Given the description of an element on the screen output the (x, y) to click on. 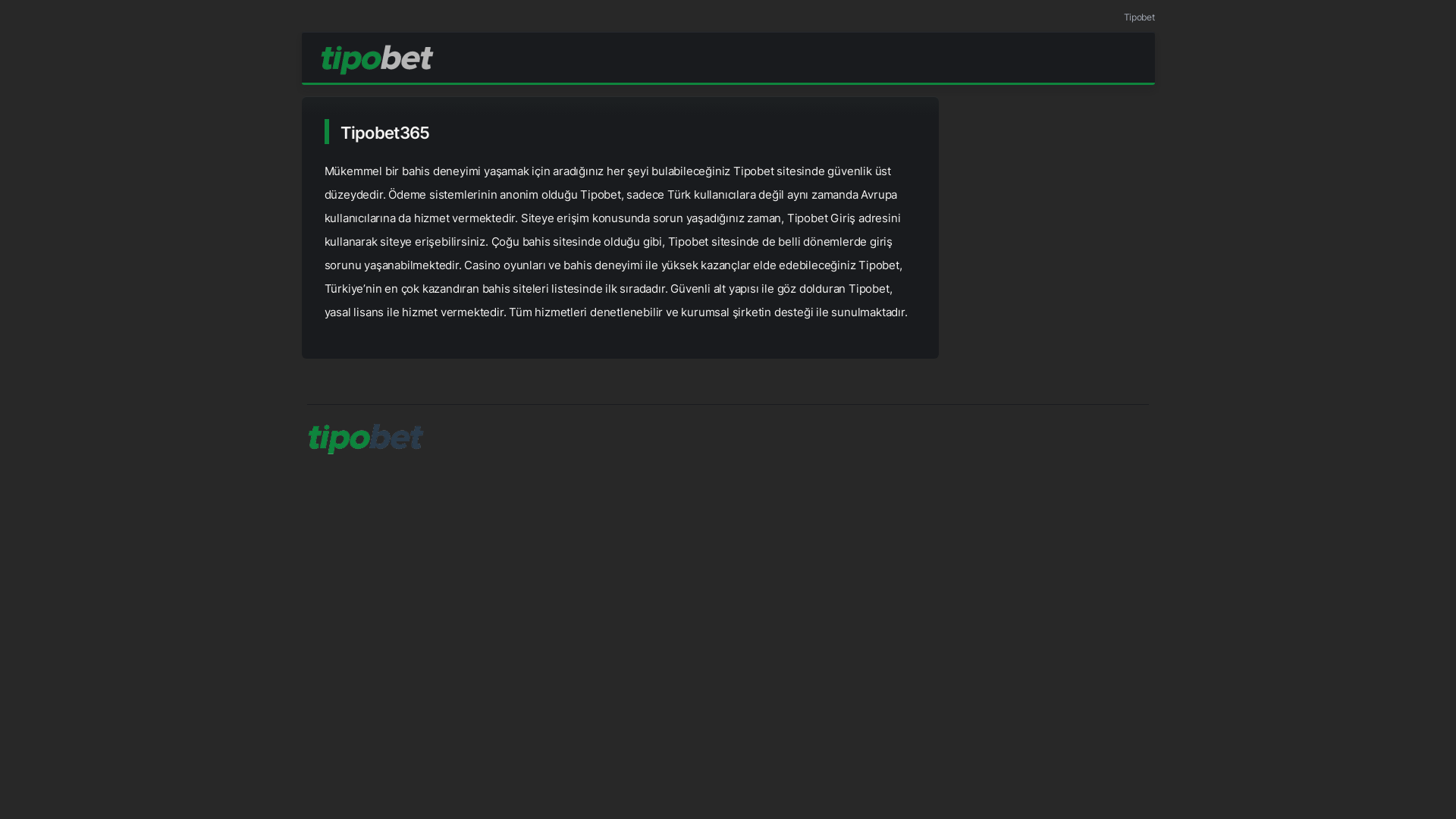
Tipobet Element type: text (1138, 16)
